Given the description of an element on the screen output the (x, y) to click on. 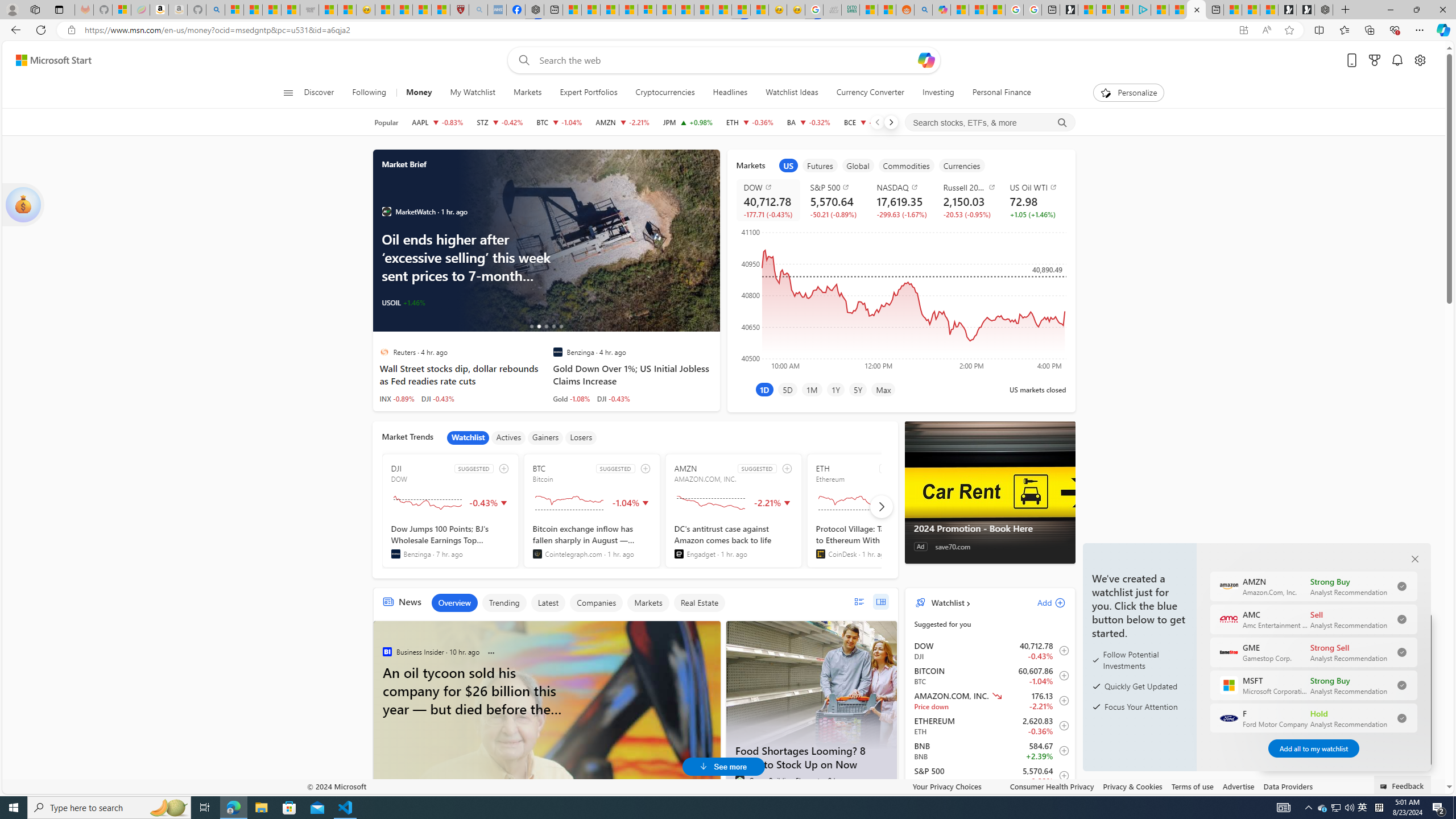
Consumer Health Privacy (1051, 785)
MarketWatch (386, 211)
DC's antitrust case against Amazon comes back to life (733, 540)
Terms of use (1192, 786)
MSNBC - MSN (868, 9)
Terms of use (1192, 785)
Watchlist (467, 437)
list of asthma inhalers uk - Search - Sleeping (478, 9)
Stocks - MSN (290, 9)
AMZN AMAZON.COM, INC. decrease 176.13 -3.98 -2.21% item2 (989, 700)
Investing (937, 92)
